Given the description of an element on the screen output the (x, y) to click on. 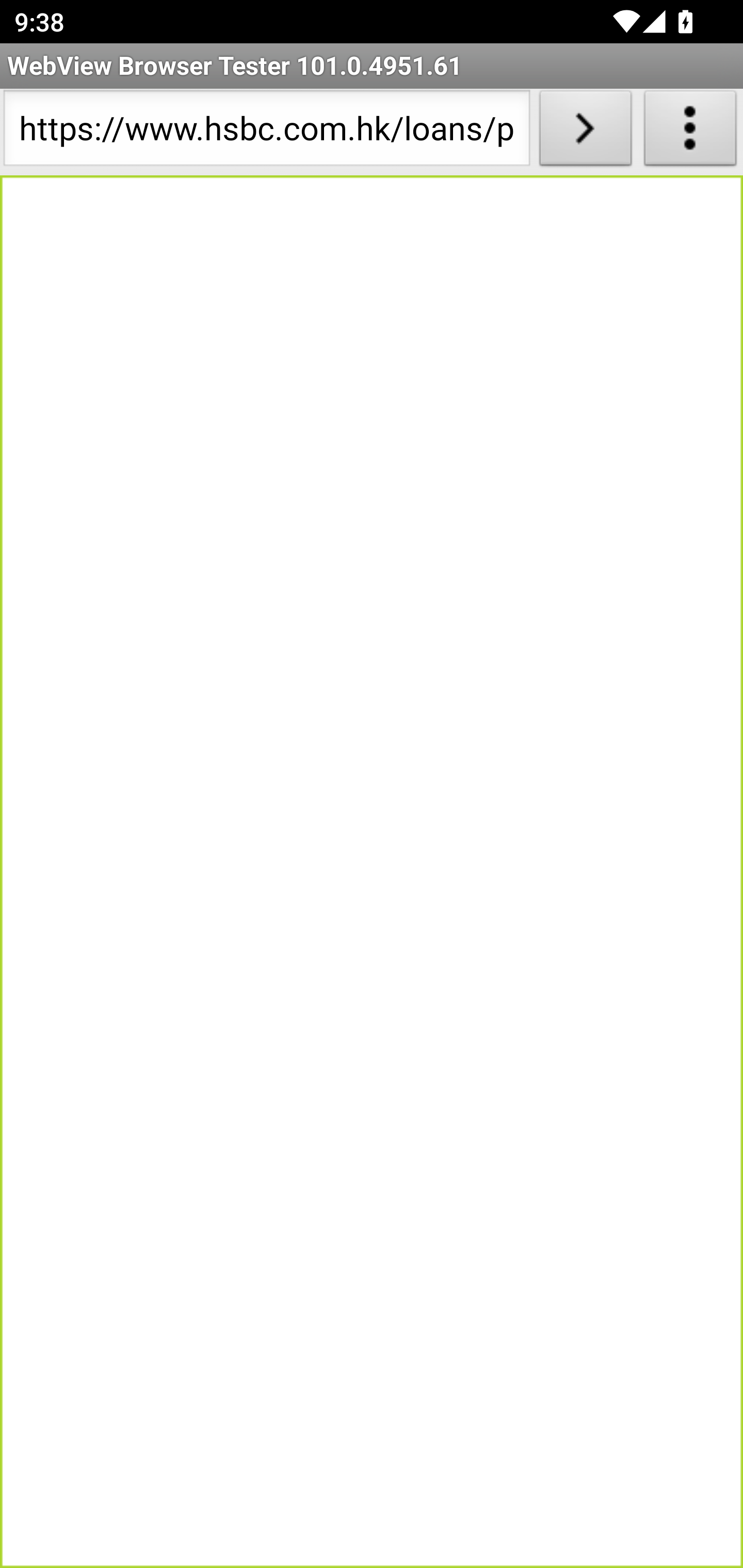
Load URL (585, 132)
About WebView (690, 132)
